Given the description of an element on the screen output the (x, y) to click on. 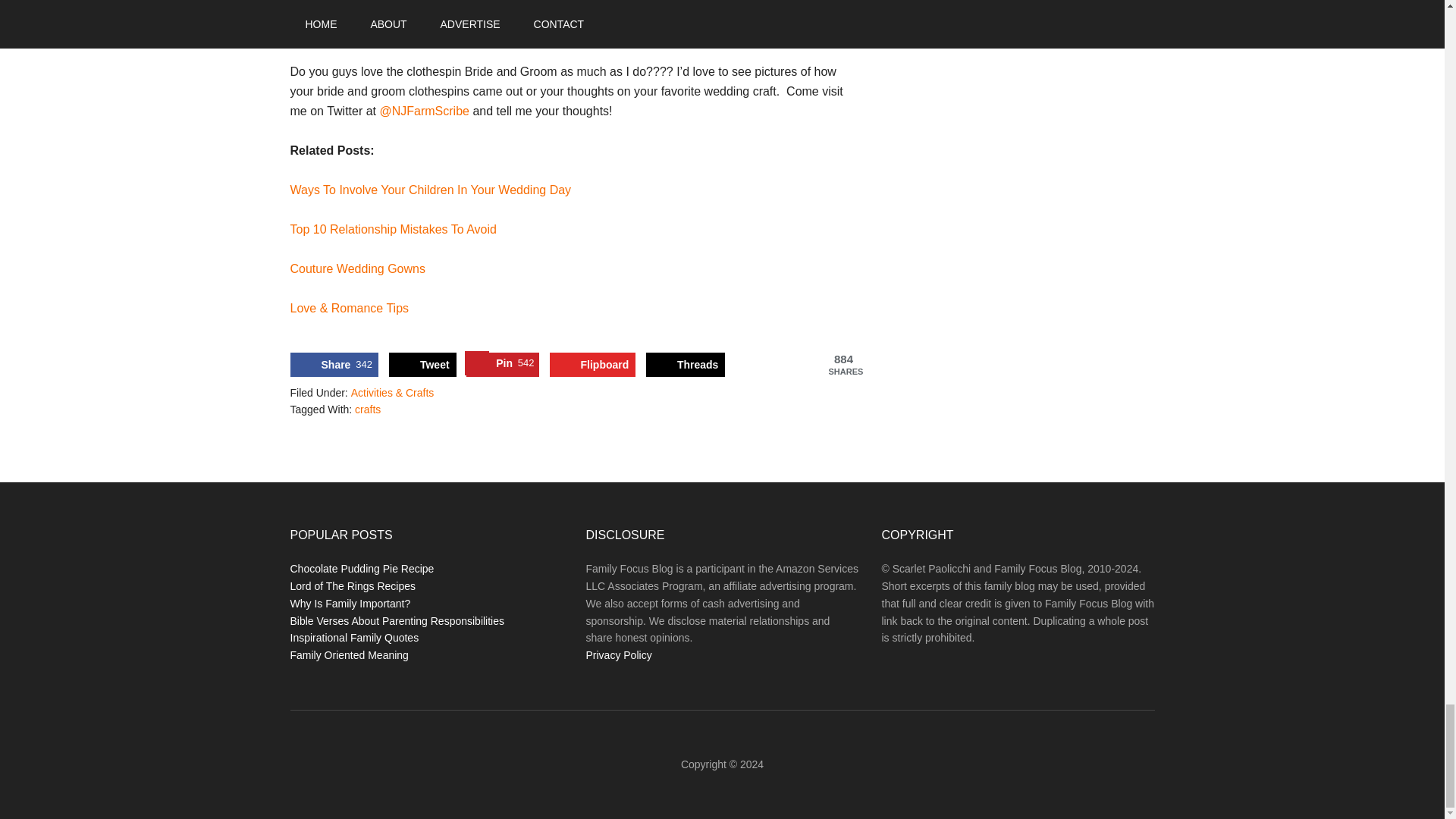
Ways To Involve Your Children In Your Wedding Day (429, 189)
Share on Facebook (333, 364)
Share on X (422, 364)
Top 10 Relationship Mistakes To Avoid (392, 228)
Couture Wedding Gowns (357, 268)
Share on Threads (685, 364)
Share on Flipboard (593, 364)
Save to Pinterest (501, 364)
